Given the description of an element on the screen output the (x, y) to click on. 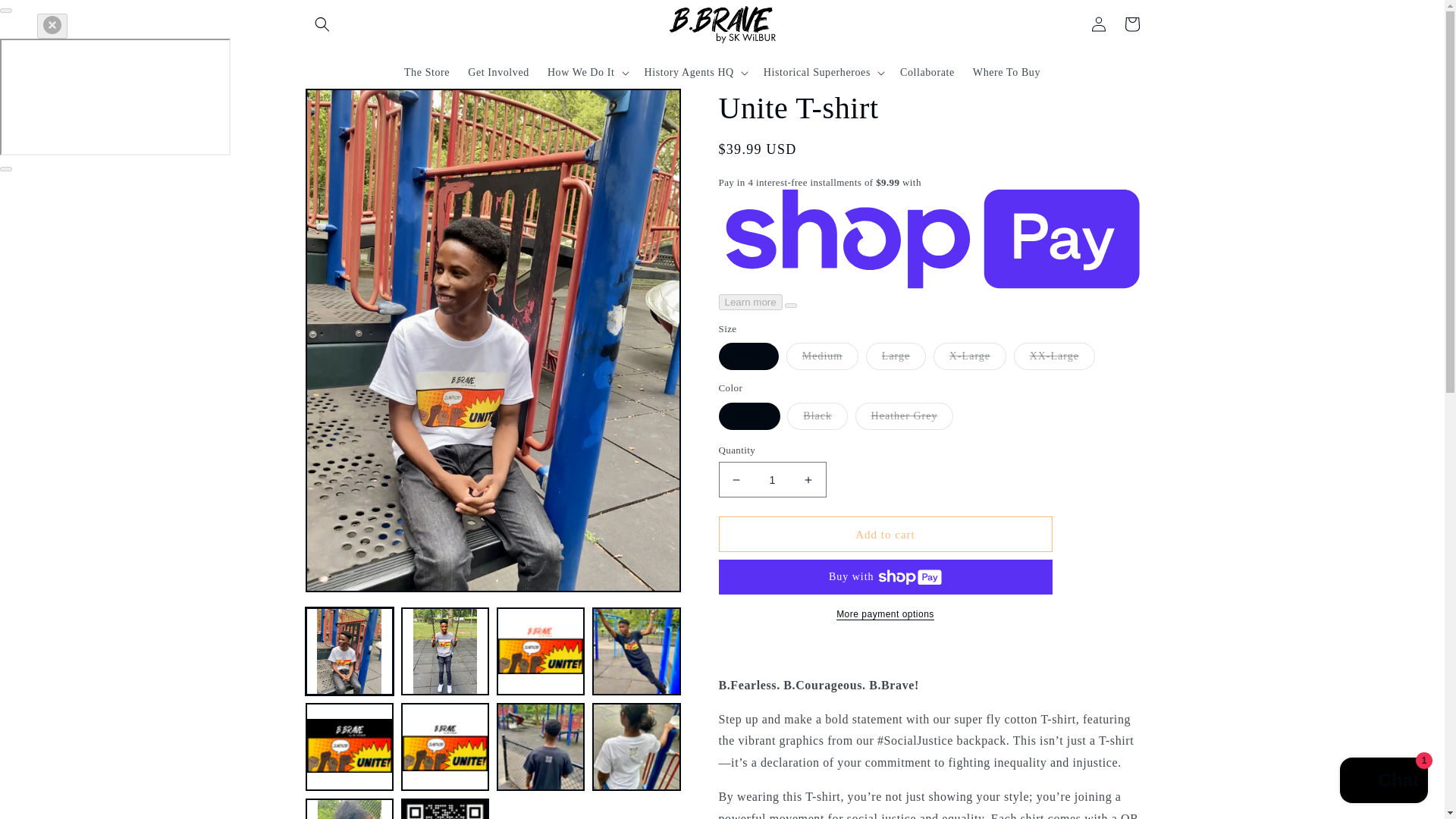
1 (773, 479)
Skip to content (45, 17)
Shopify online store chat (1383, 781)
